Given the description of an element on the screen output the (x, y) to click on. 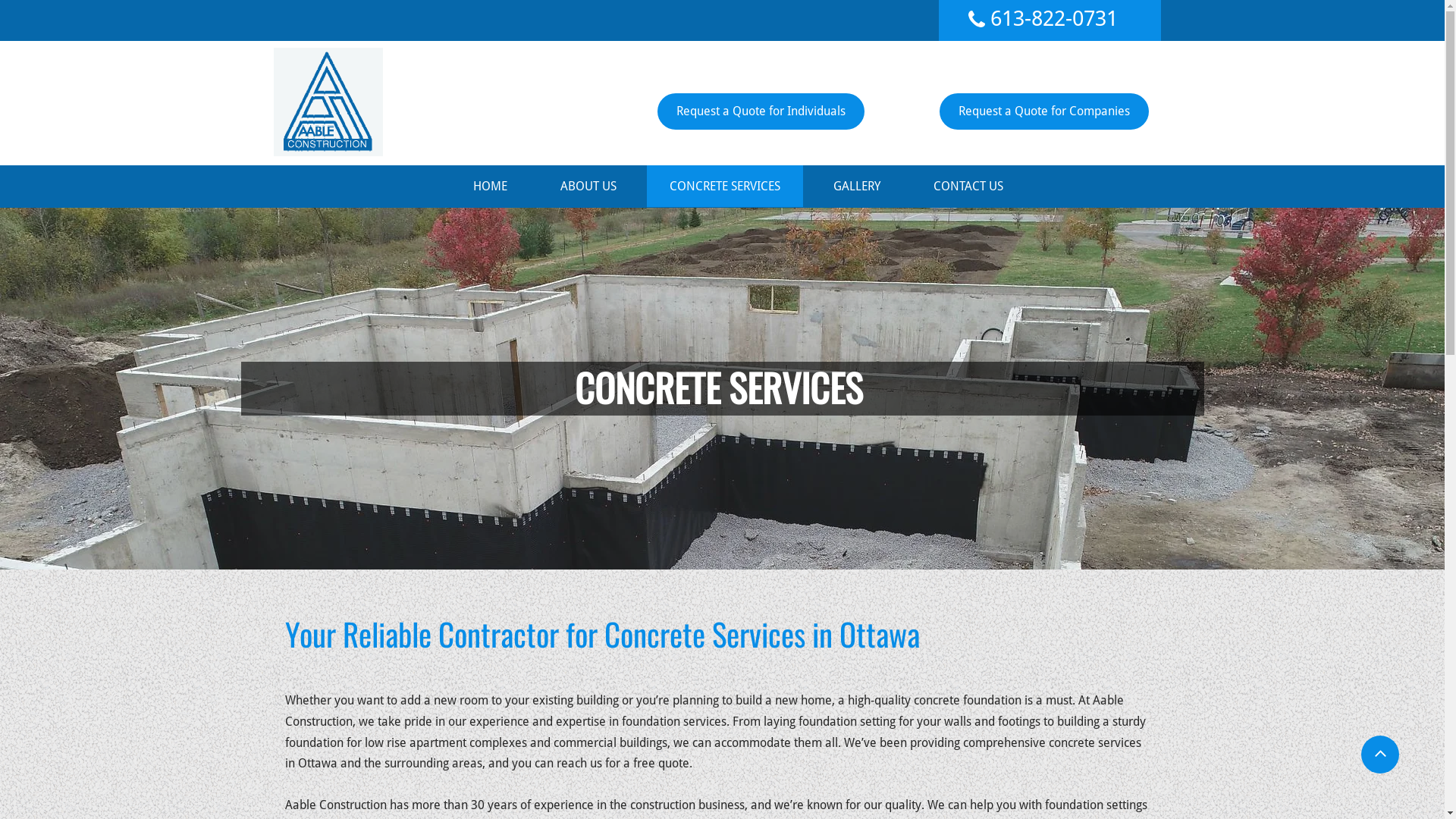
ABOUT US Element type: text (587, 186)
CONCRETE SERVICES Element type: text (724, 186)
CONTACT US Element type: text (967, 186)
Request a Quote for Companies Element type: text (1043, 111)
613-822-0731 Element type: text (1053, 18)
Request a Quote for Individuals Element type: text (759, 111)
GALLERY Element type: text (855, 186)
HOME Element type: text (490, 186)
